Given the description of an element on the screen output the (x, y) to click on. 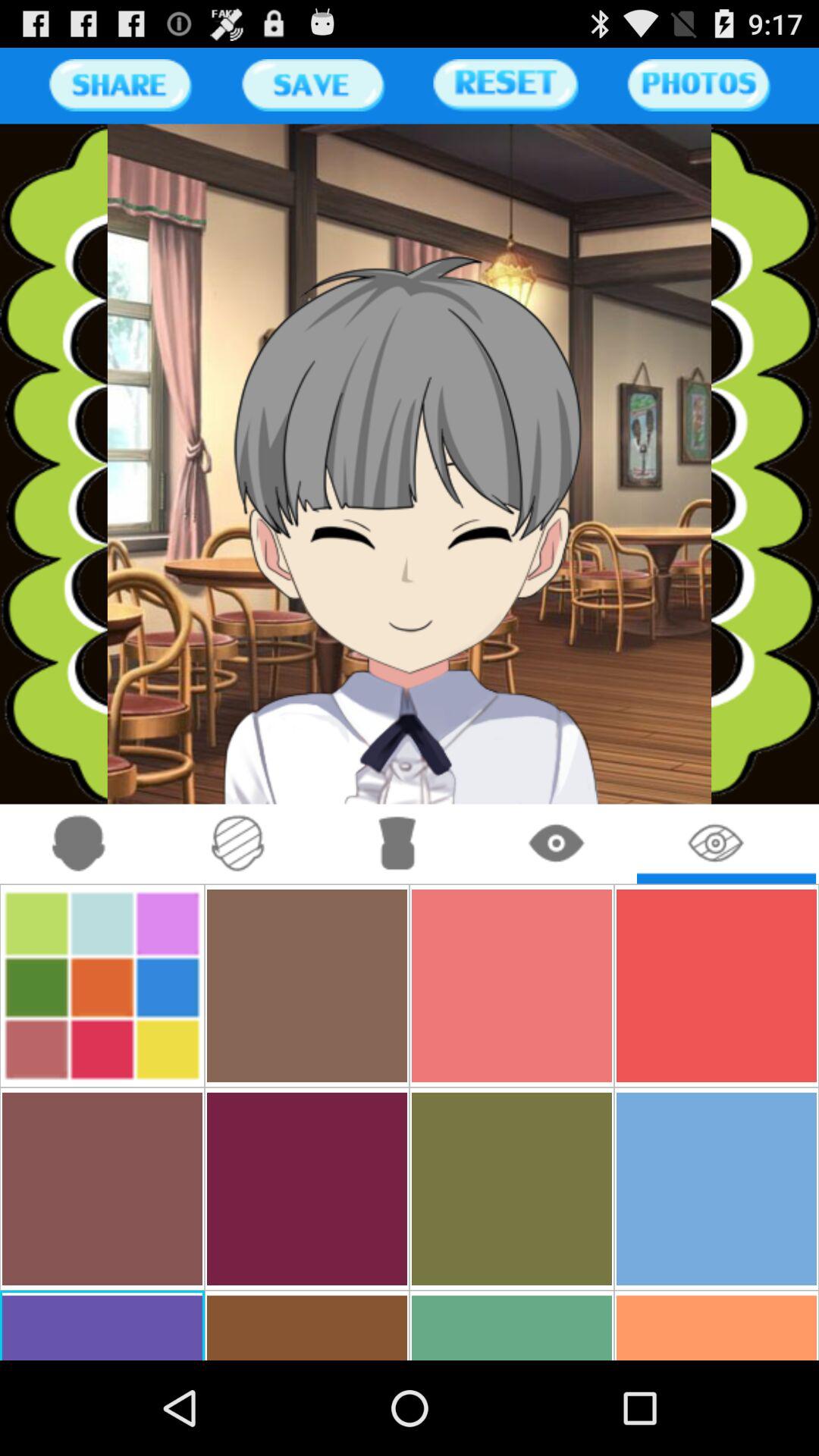
toggle autoplay option (79, 843)
